Given the description of an element on the screen output the (x, y) to click on. 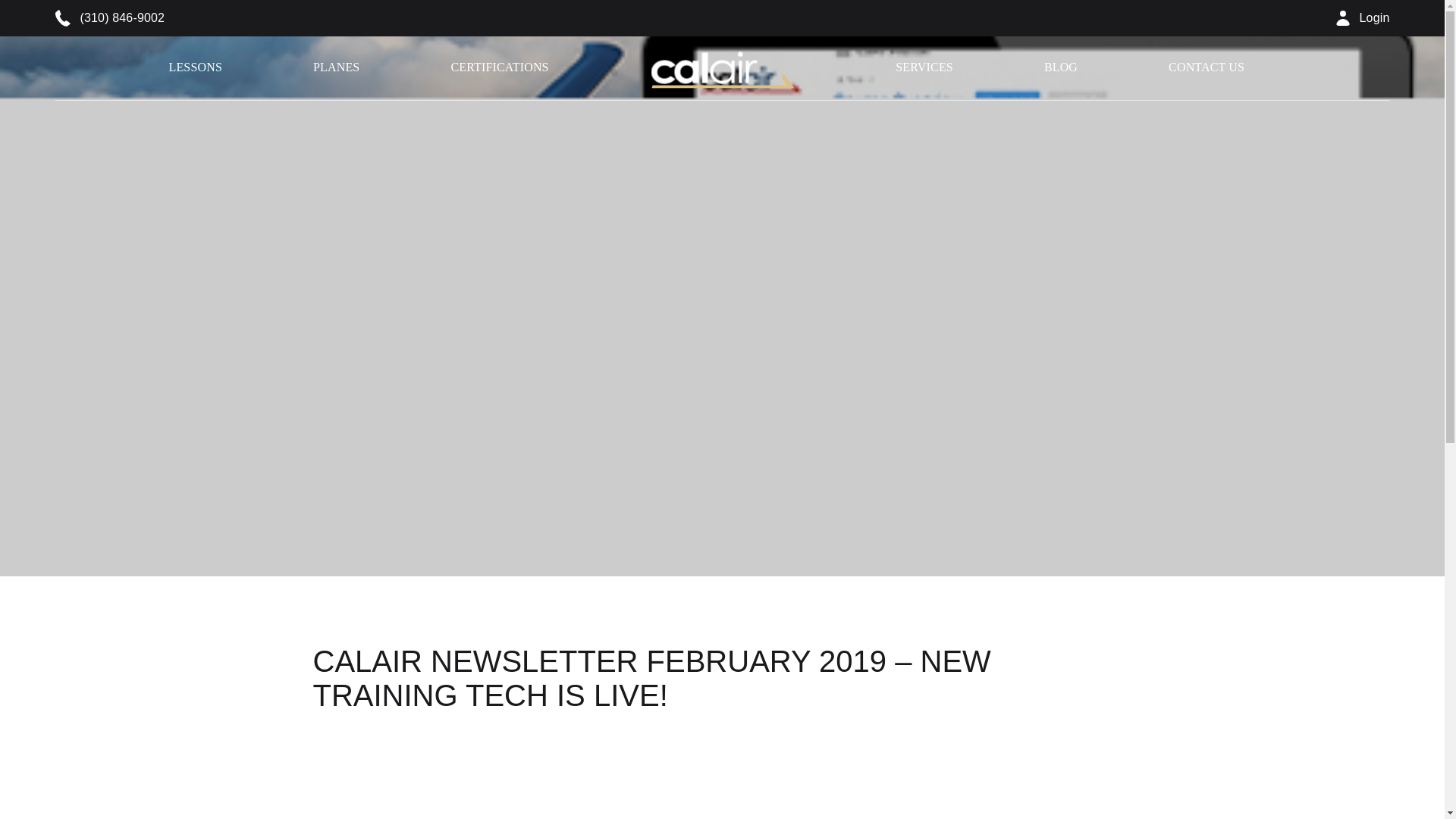
Login (1363, 17)
CONTACT US (1206, 66)
SERVICES (924, 66)
BLOG (1060, 66)
LESSONS (194, 66)
PLANES (336, 66)
CERTIFICATIONS (498, 66)
